Given the description of an element on the screen output the (x, y) to click on. 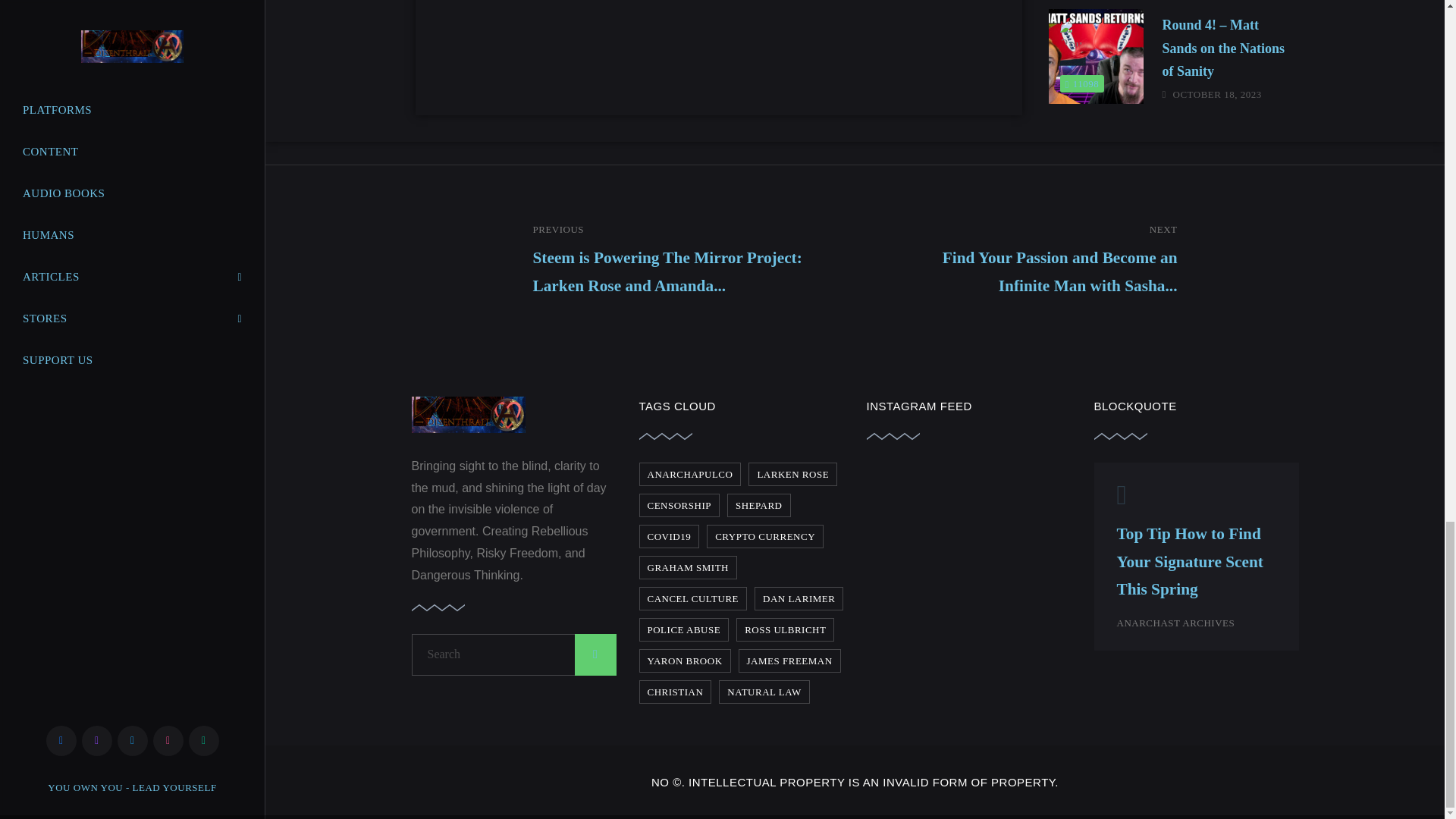
Search (512, 654)
Posts by Anarchast Archives (1175, 622)
